Given the description of an element on the screen output the (x, y) to click on. 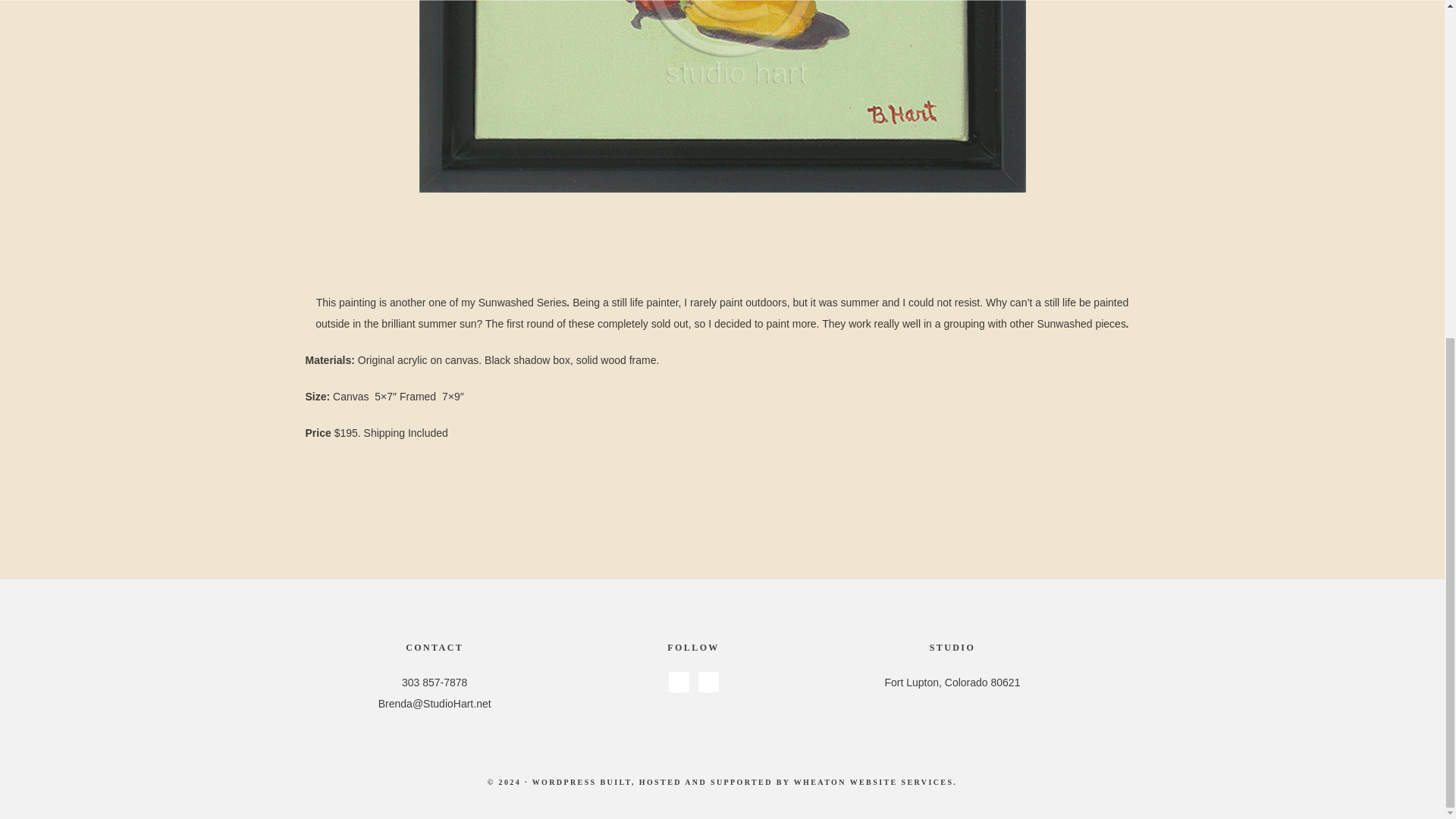
WHEATON WEBSITE SERVICES (873, 782)
